Given the description of an element on the screen output the (x, y) to click on. 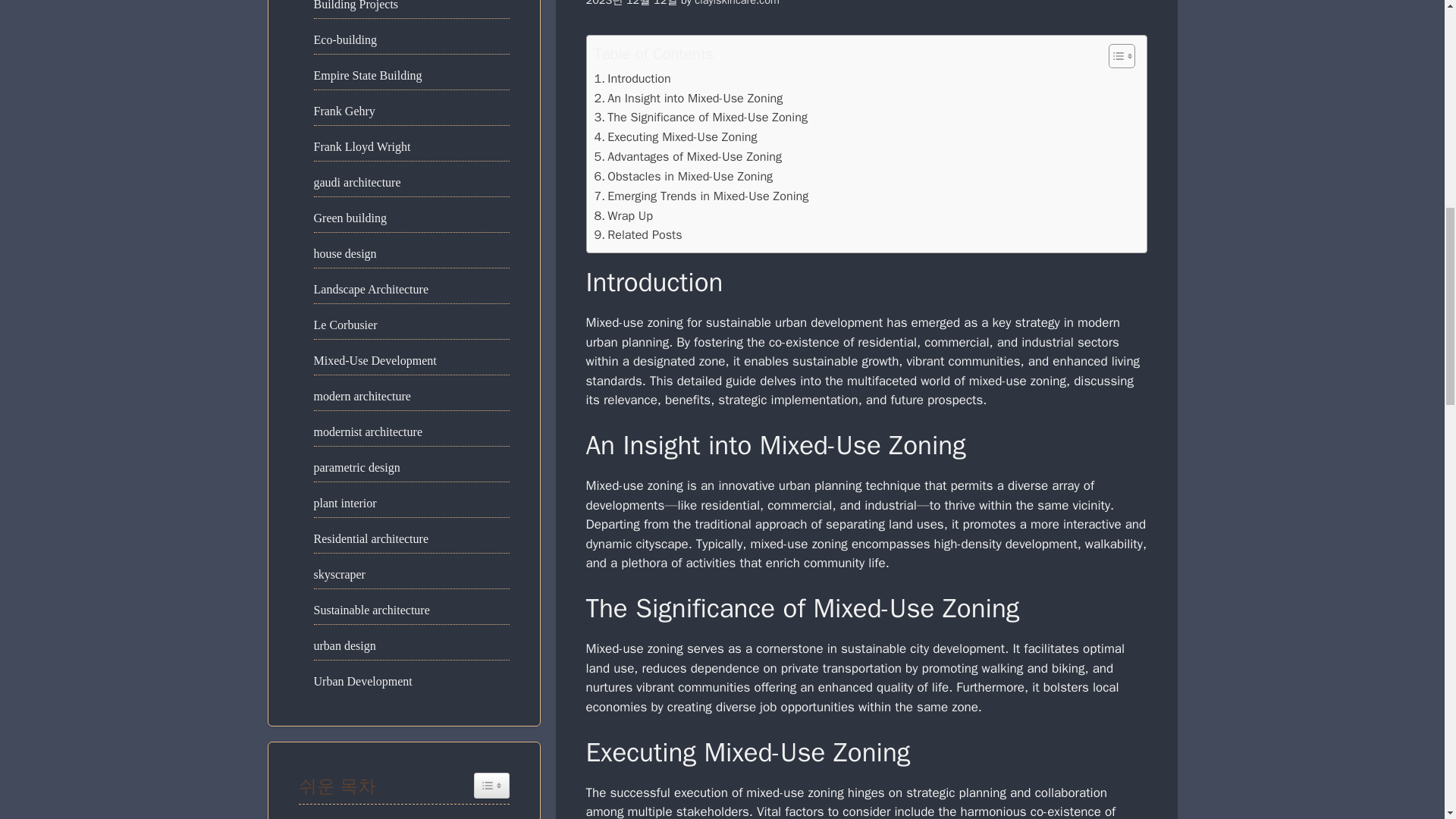
The Significance of Mixed-Use Zoning (701, 117)
Related Posts (638, 234)
Advantages of Mixed-Use Zoning (688, 157)
Executing Mixed-Use Zoning (675, 137)
Wrap Up (623, 216)
Obstacles in Mixed-Use Zoning (683, 176)
Introduction (632, 78)
An Insight into Mixed-Use Zoning (688, 98)
The Significance of Mixed-Use Zoning (701, 117)
View all posts by claylskincare.com (736, 3)
Executing Mixed-Use Zoning (675, 137)
An Insight into Mixed-Use Zoning (688, 98)
Introduction (632, 78)
Emerging Trends in Mixed-Use Zoning (701, 196)
claylskincare.com (736, 3)
